Given the description of an element on the screen output the (x, y) to click on. 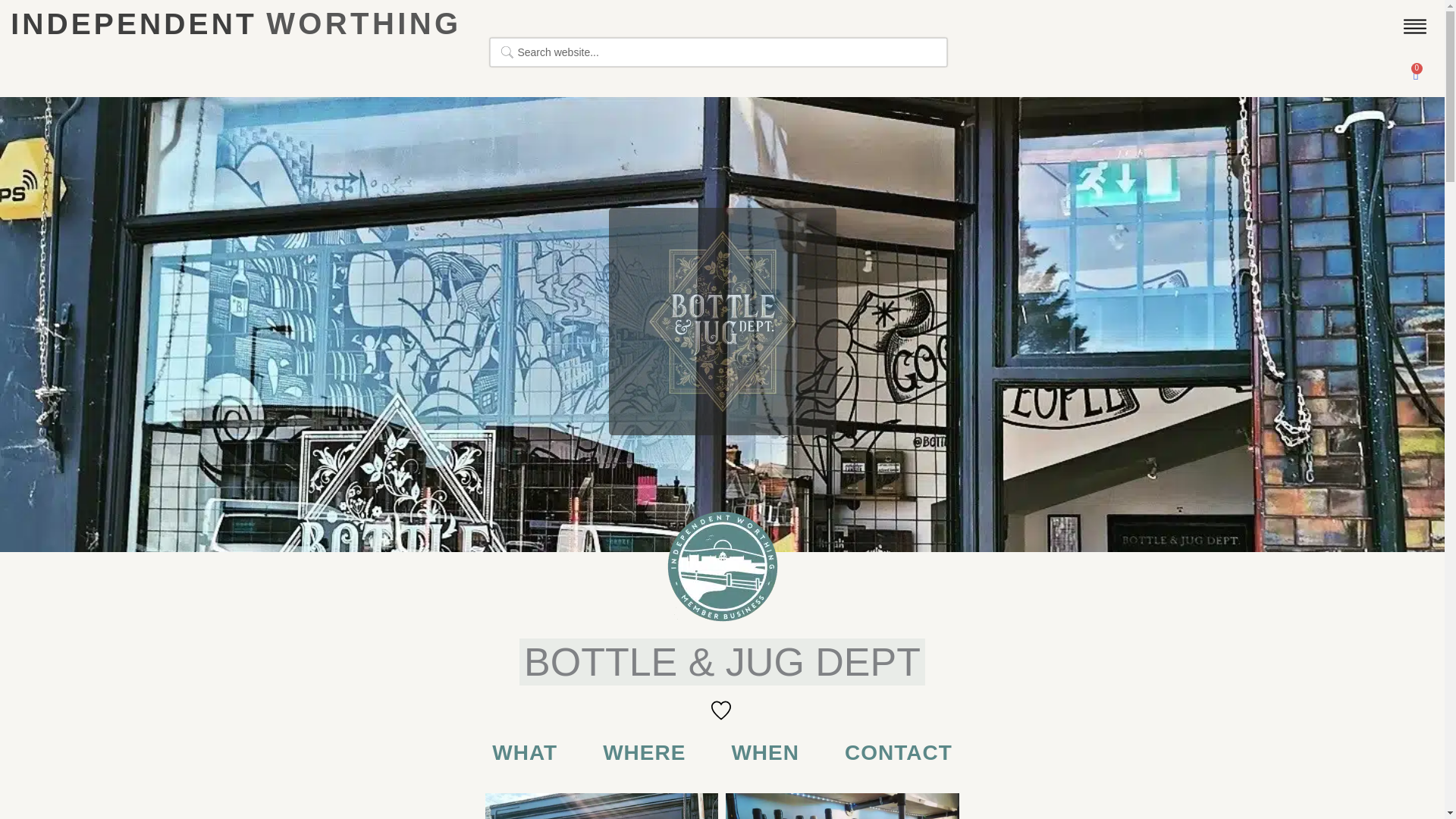
INDEPENDENT WORTHING (235, 26)
